Given the description of an element on the screen output the (x, y) to click on. 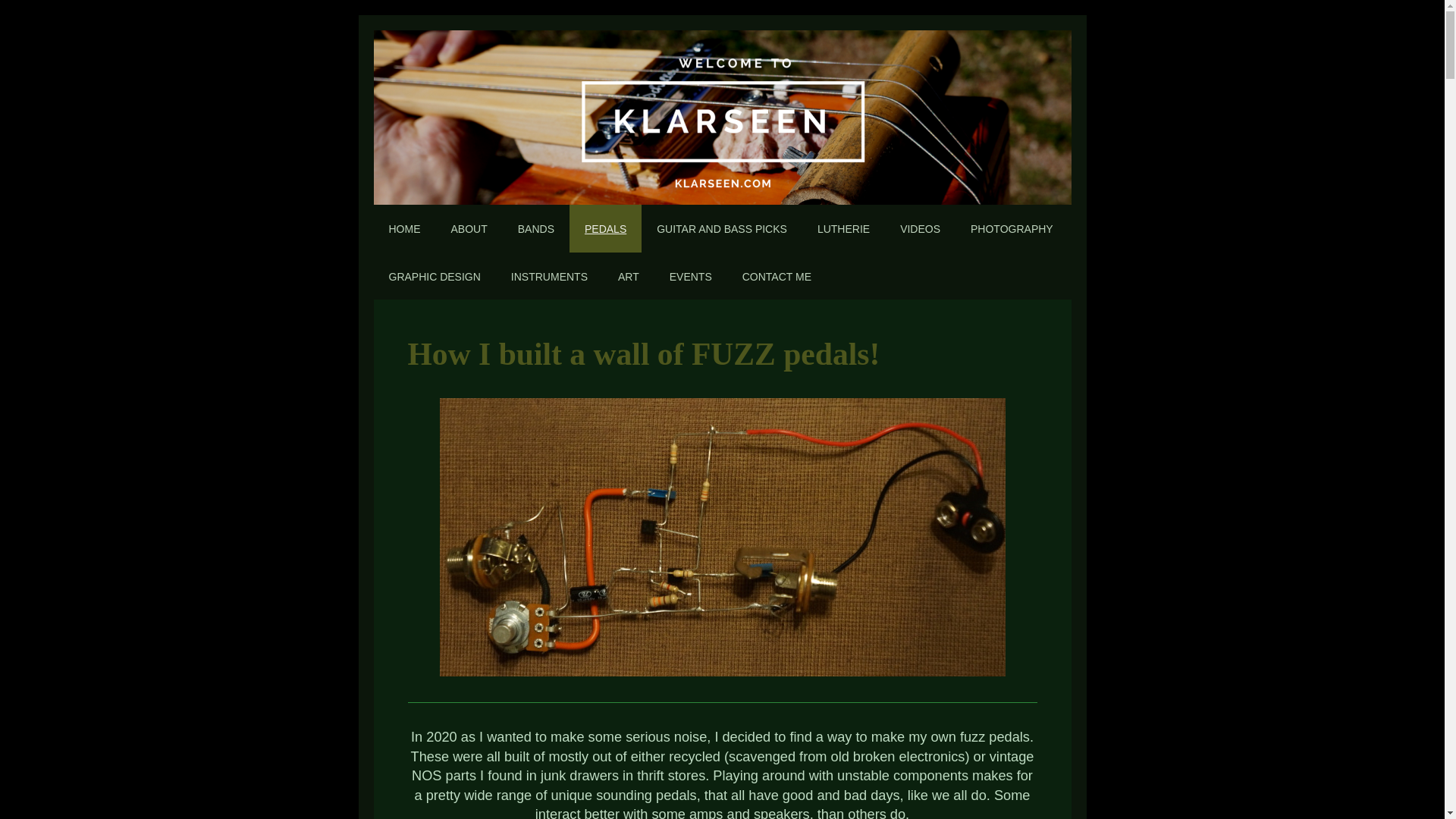
GUITAR AND BASS PICKS (722, 228)
BANDS (535, 228)
PHOTOGRAPHY (1011, 228)
HOME (403, 228)
LUTHERIE (843, 228)
ABOUT (468, 228)
VIDEOS (920, 228)
PEDALS (605, 228)
